Given the description of an element on the screen output the (x, y) to click on. 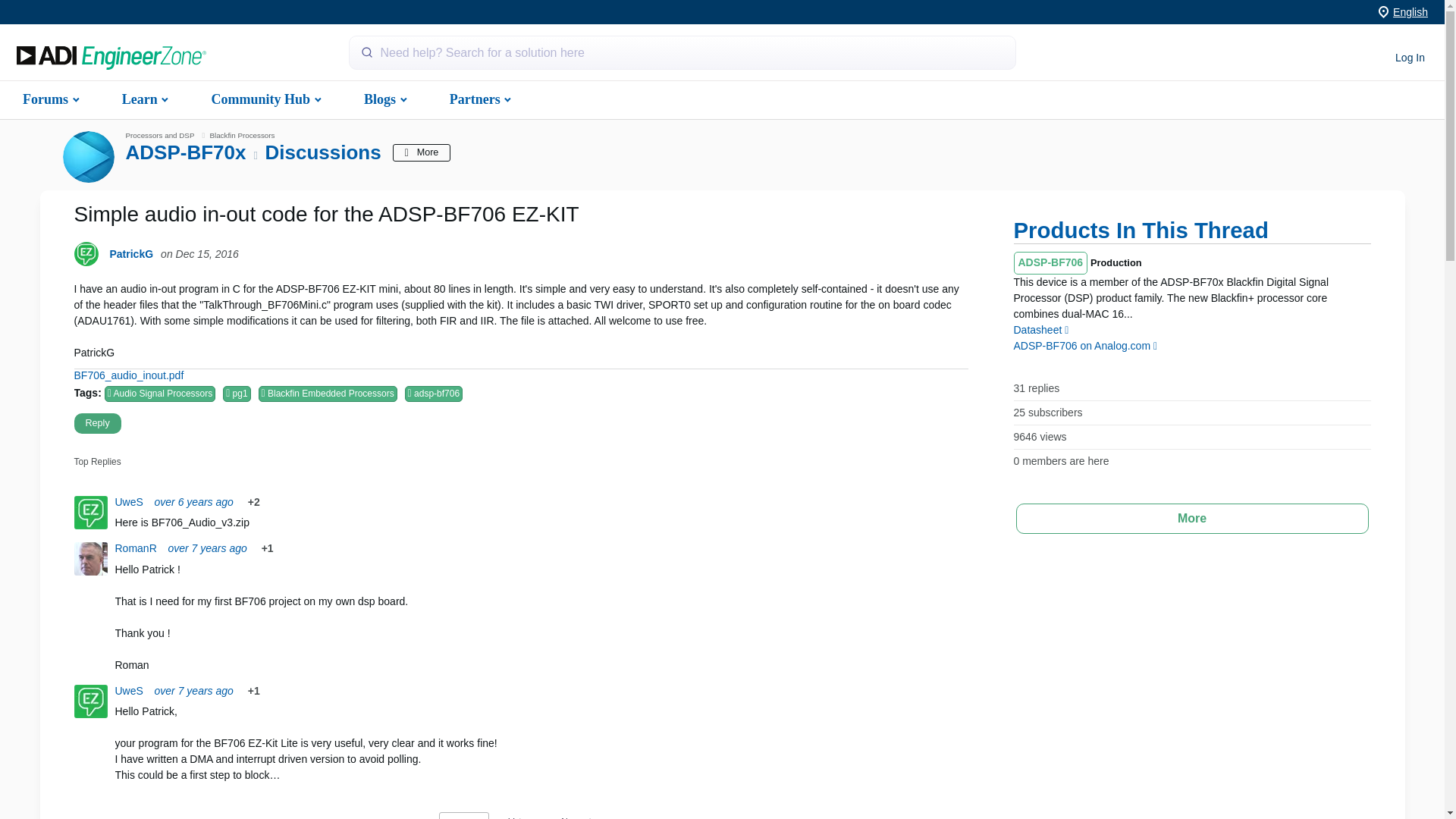
Join or sign in (1409, 57)
English (1410, 11)
Home (111, 57)
Log In (1409, 57)
Forums (49, 98)
